Given the description of an element on the screen output the (x, y) to click on. 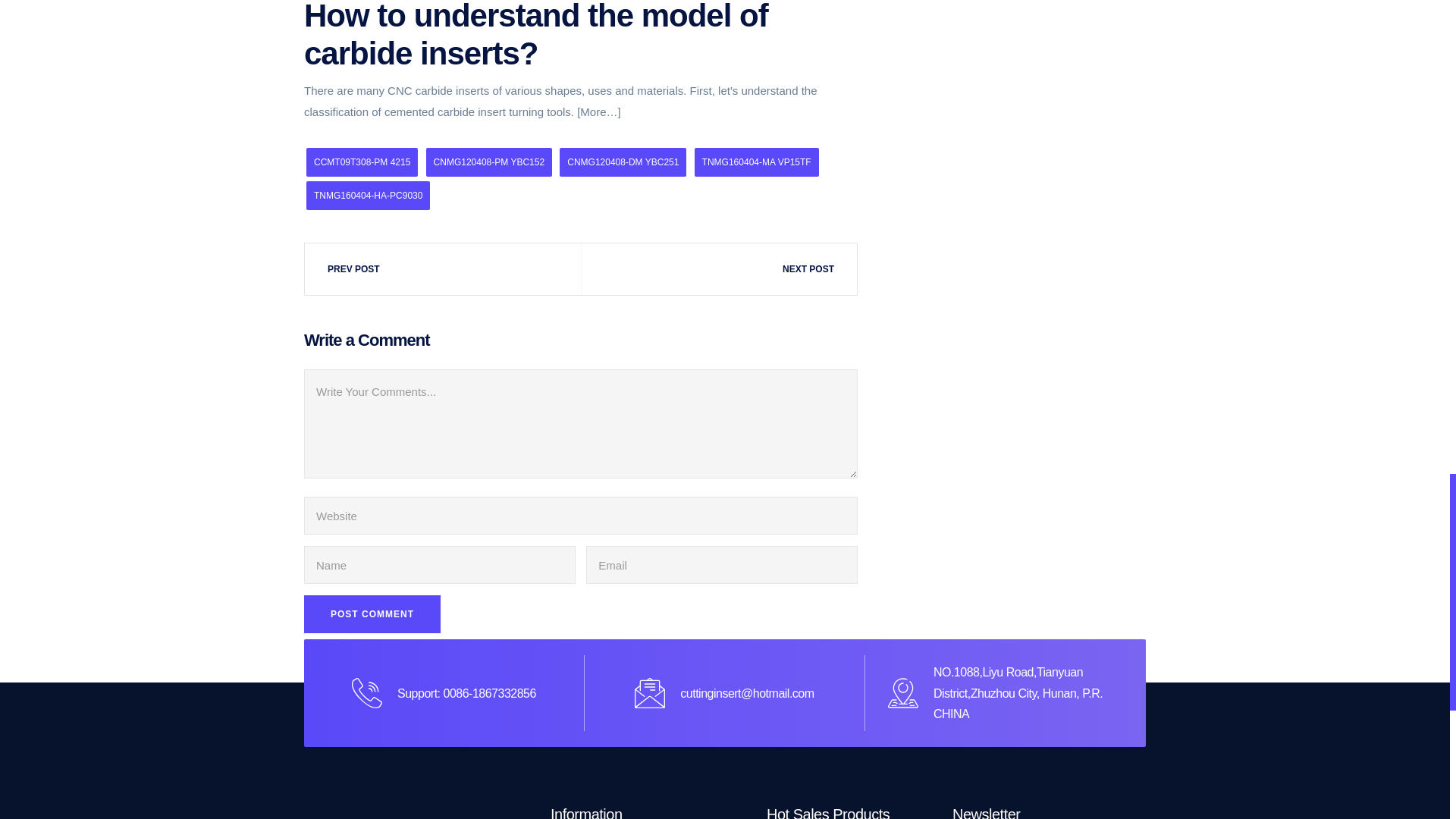
Post Comment (372, 614)
CNMG120408-PM YBC152 (489, 162)
TNMG160404-MA VP15TF (756, 162)
TNMG160404-HA-PC9030 (367, 194)
CCMT09T308-PM 4215 (361, 162)
CNMG120408-DM YBC251 (622, 162)
